Given the description of an element on the screen output the (x, y) to click on. 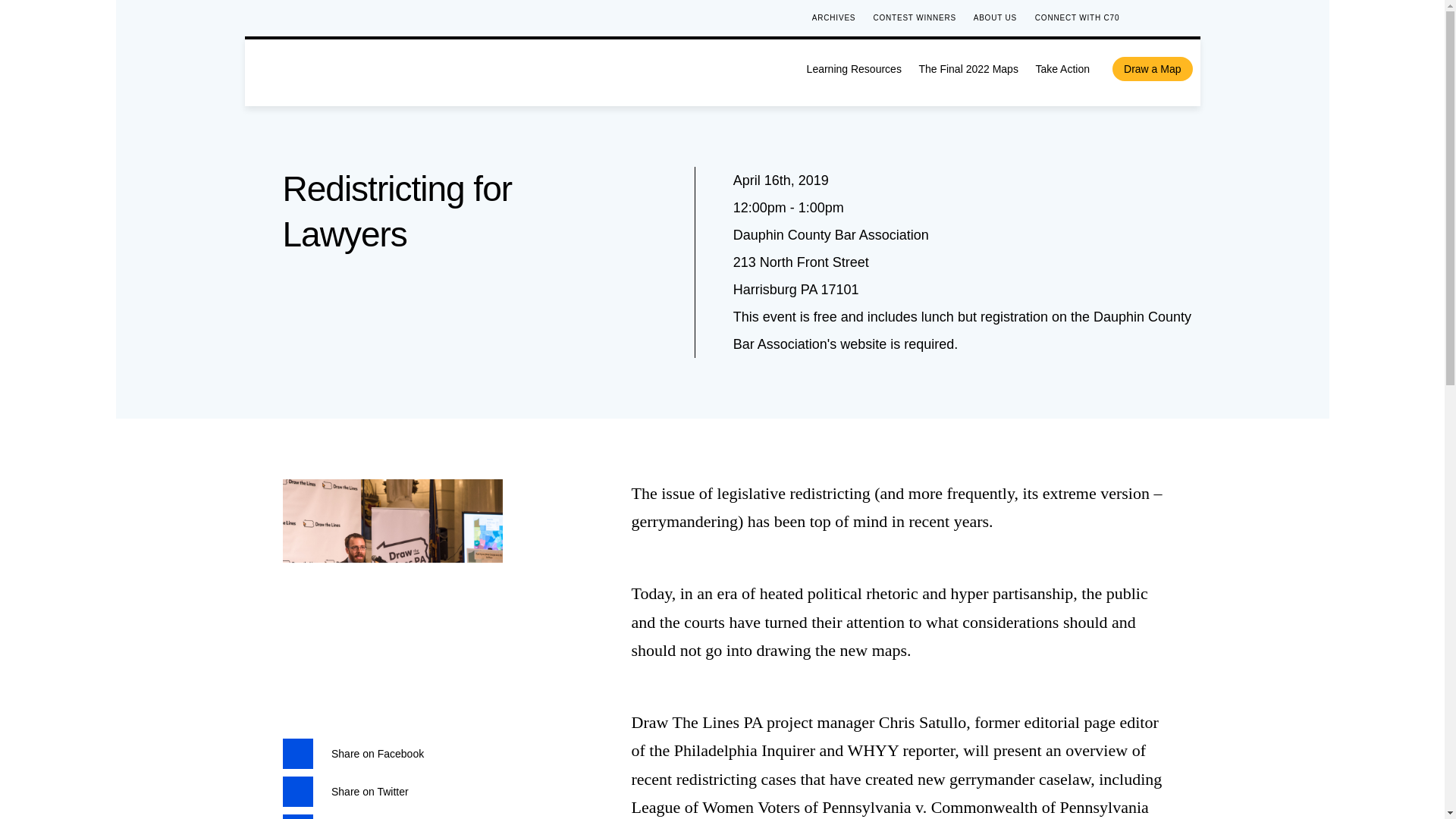
facebook icon Share on Facebook (352, 752)
instagram icon (1193, 16)
Draw a Map (1152, 68)
facebook icon (296, 753)
ARCHIVES (834, 17)
Draw the Lines logo (402, 67)
facebook icon (1147, 17)
Learning Resources (853, 68)
Take Action (1062, 68)
instagram icon (1193, 17)
